Given the description of an element on the screen output the (x, y) to click on. 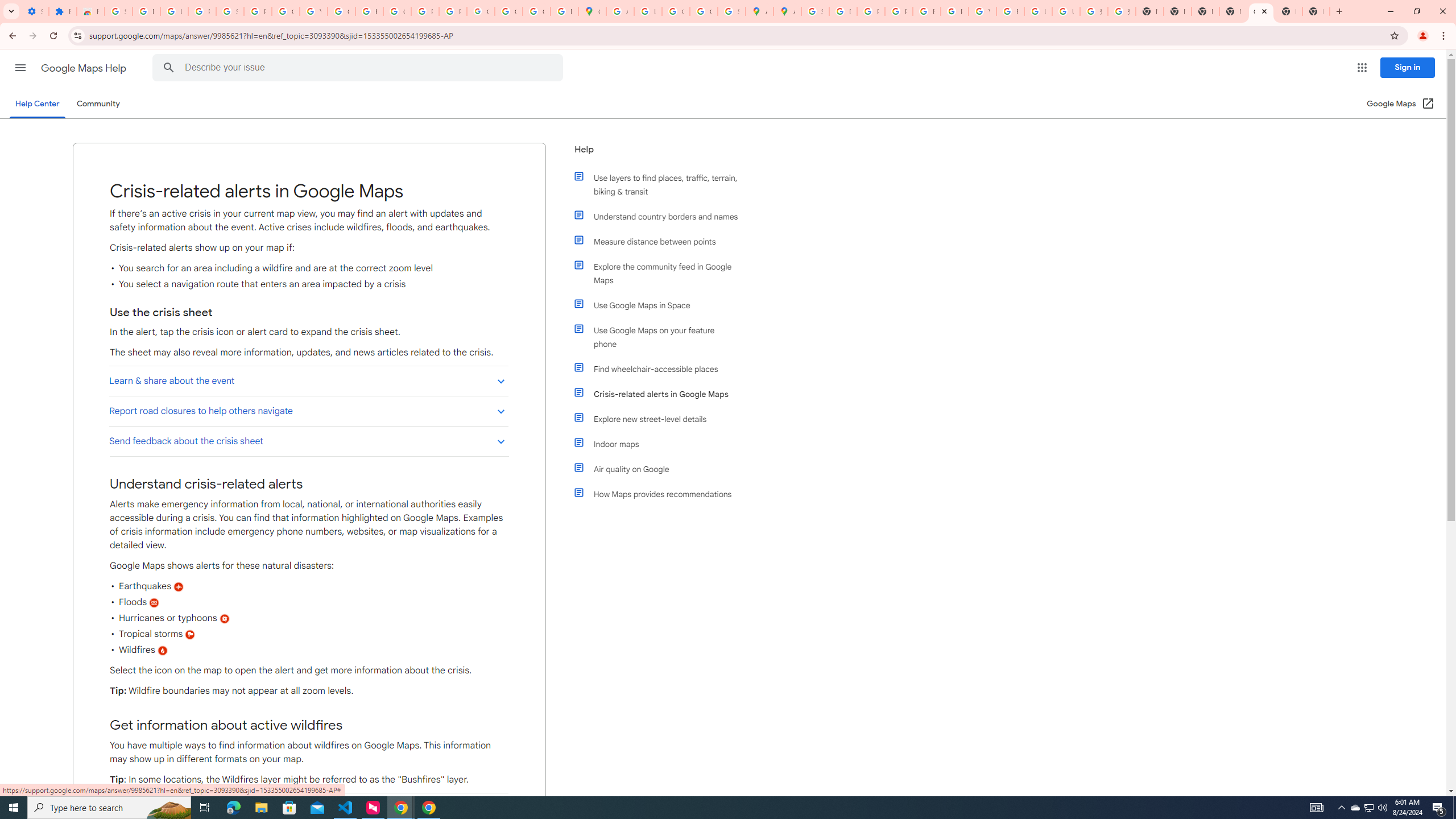
Sign in - Google Accounts (229, 11)
Google Maps (592, 11)
Use Google Maps in Space (661, 305)
Send feedback about the crisis sheet (308, 440)
Find wheelchair-accessible places (661, 368)
